Given the description of an element on the screen output the (x, y) to click on. 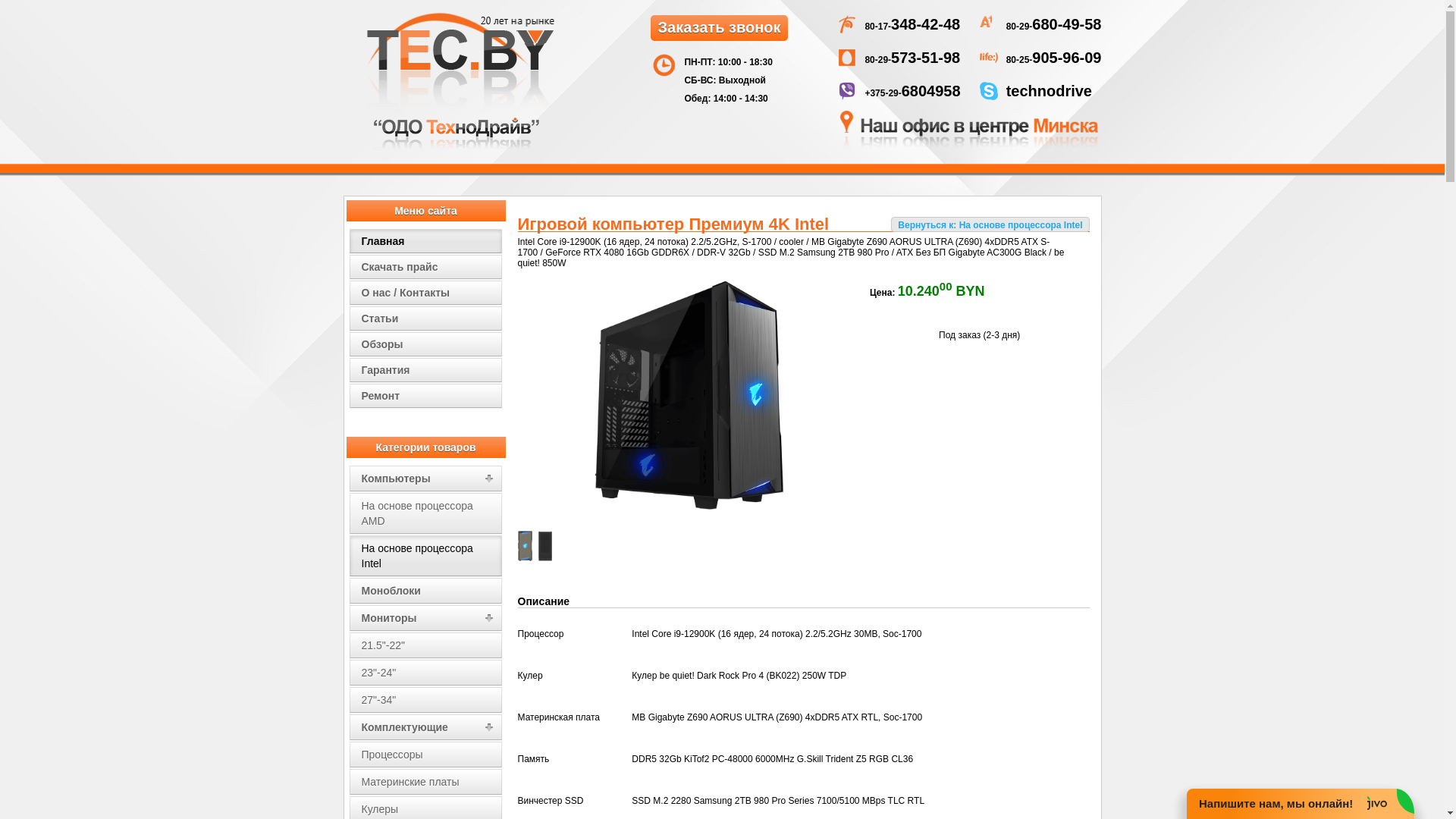
ac300g-366 Element type: hover (548, 557)
+375-29-6804958 Element type: text (912, 92)
23"-24" Element type: text (425, 672)
21.5"-22" Element type: text (425, 645)
80-29-680-49-58 Element type: text (1053, 26)
80-29-573-51-98 Element type: text (912, 59)
27"-34" Element type: text (425, 699)
80-17-348-42-48 Element type: text (912, 26)
gb-ac300g-21 Element type: hover (527, 557)
80-25-905-96-09 Element type: text (1053, 59)
technodrive Element type: text (1049, 92)
